Given the description of an element on the screen output the (x, y) to click on. 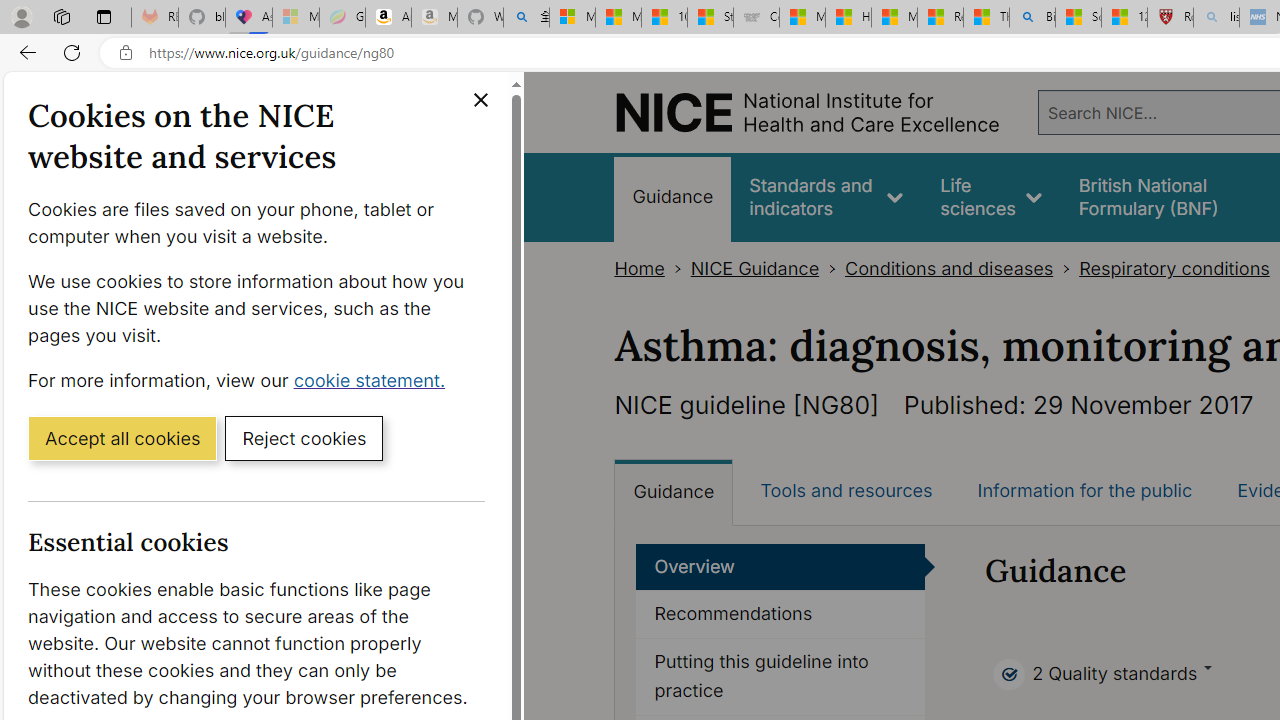
Stocks - MSN (710, 17)
Information for the public (1084, 490)
Reject cookies (304, 437)
Close cookie banner (480, 99)
false (1167, 196)
Respiratory conditions (1174, 268)
Life sciences (991, 196)
Combat Siege (756, 17)
